Given the description of an element on the screen output the (x, y) to click on. 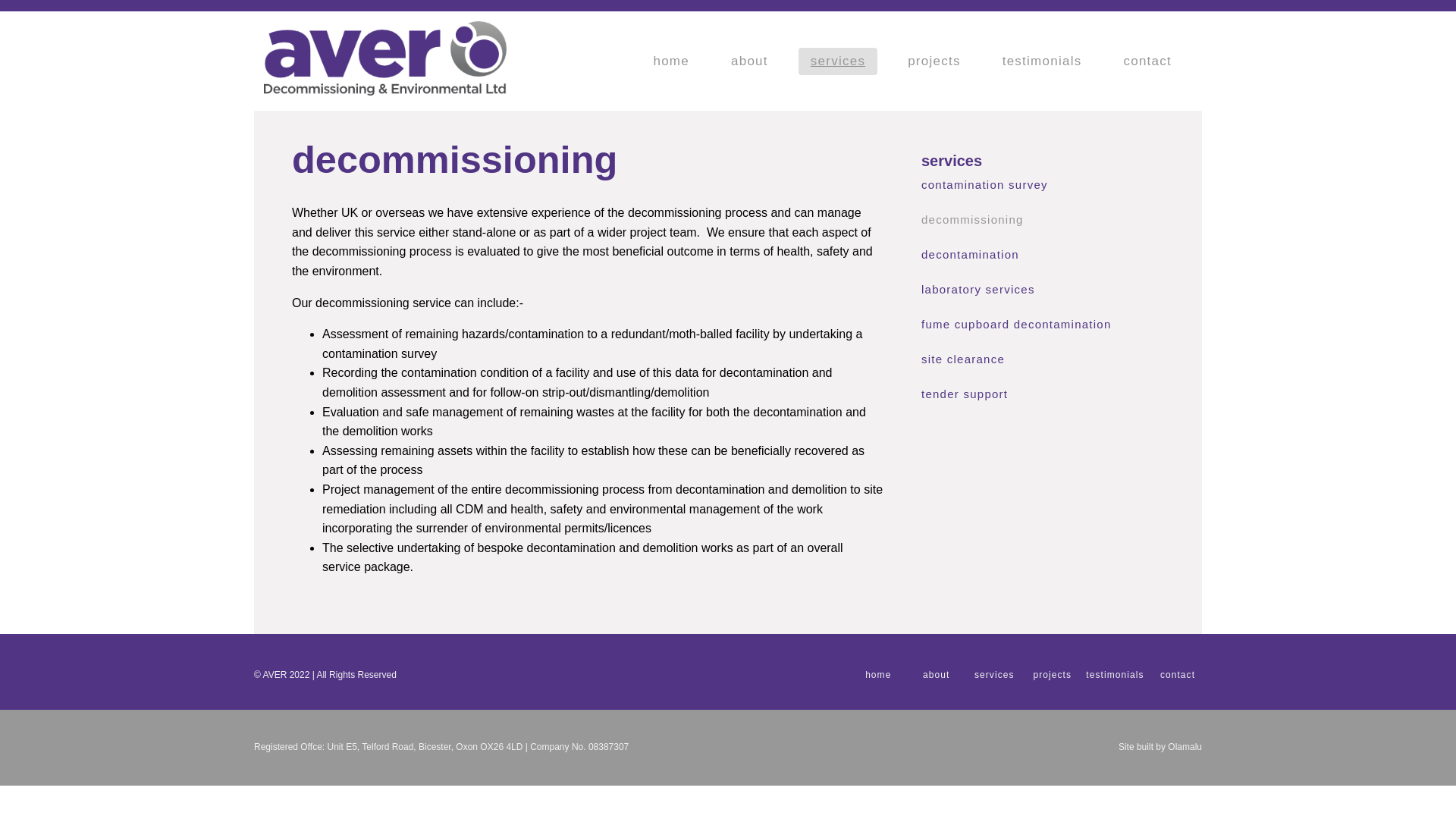
projects (934, 61)
about (748, 61)
services (993, 675)
testimonials (1042, 61)
site clearance (1042, 359)
decommissioning (1042, 219)
decontamination (1042, 254)
about (936, 675)
home (877, 675)
services (837, 61)
